Given the description of an element on the screen output the (x, y) to click on. 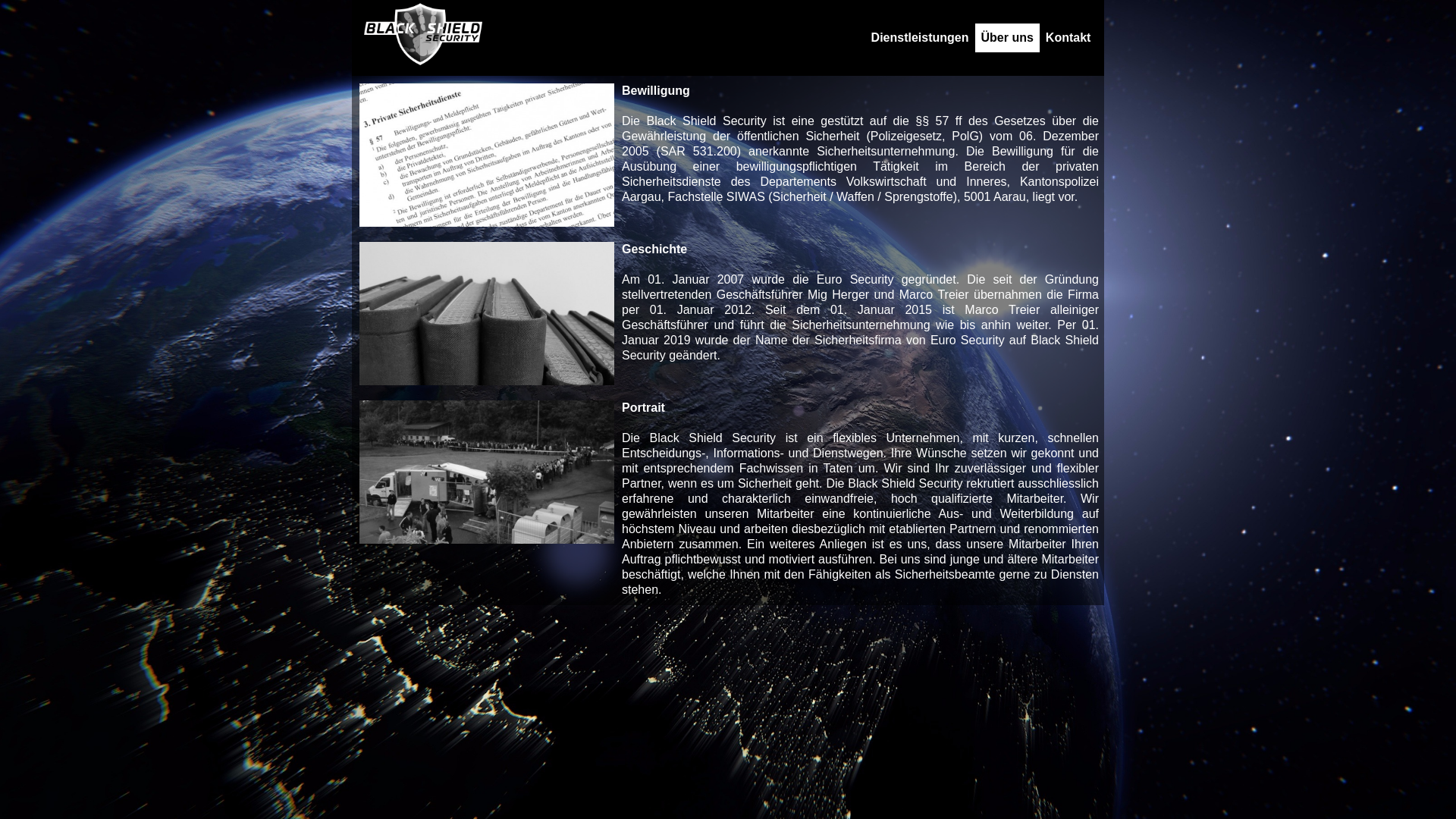
Kontakt Element type: text (1068, 37)
Dienstleistungen Element type: text (920, 37)
